Given the description of an element on the screen output the (x, y) to click on. 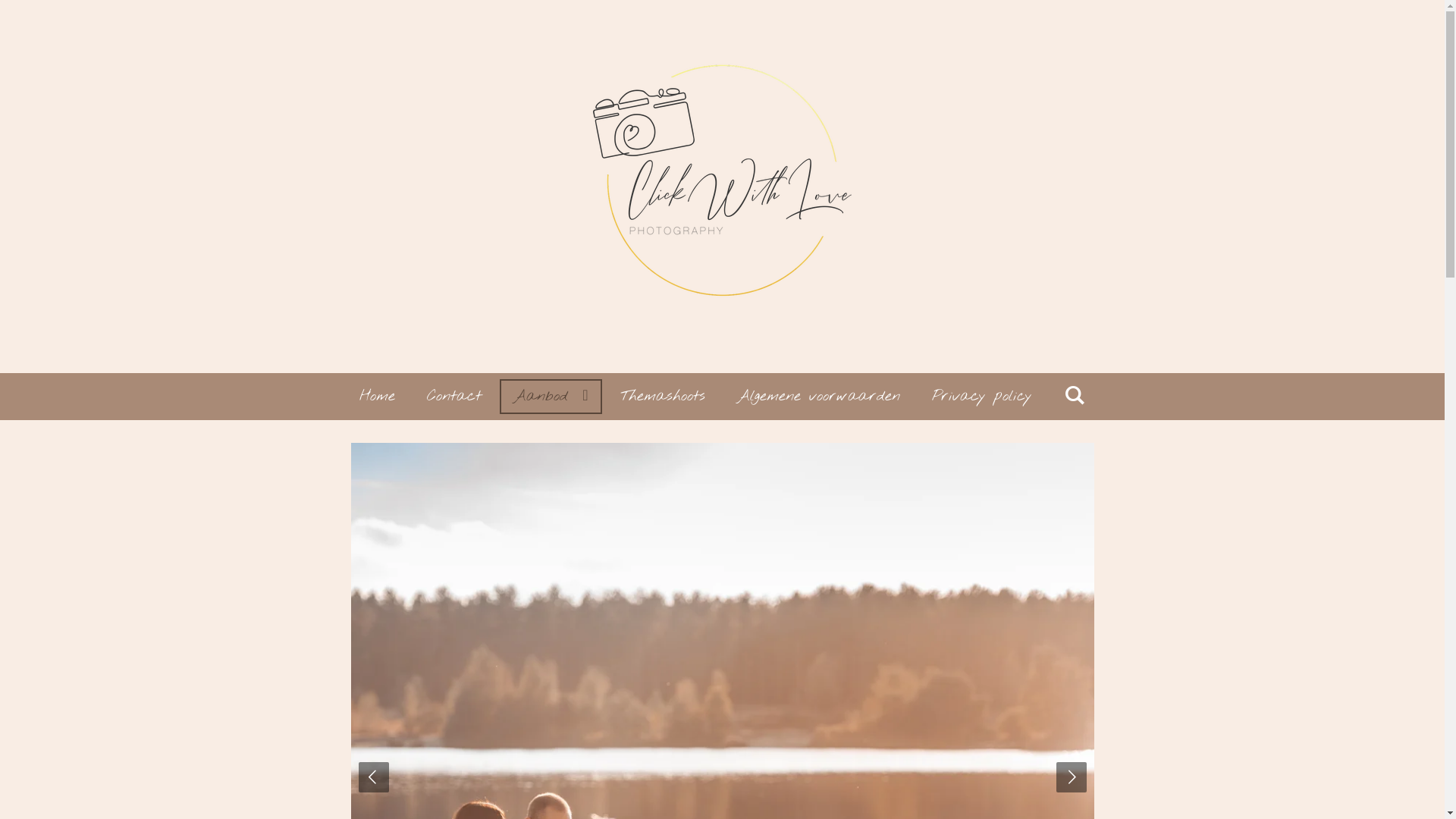
Click with love Photography Element type: hover (721, 186)
Aanbod Element type: text (550, 396)
Zoeken Element type: hover (1074, 396)
Privacy policy Element type: text (981, 396)
Home Element type: text (377, 396)
Algemene voorwaarden Element type: text (818, 396)
Contact Element type: text (453, 396)
Themashoots Element type: text (662, 396)
